Given the description of an element on the screen output the (x, y) to click on. 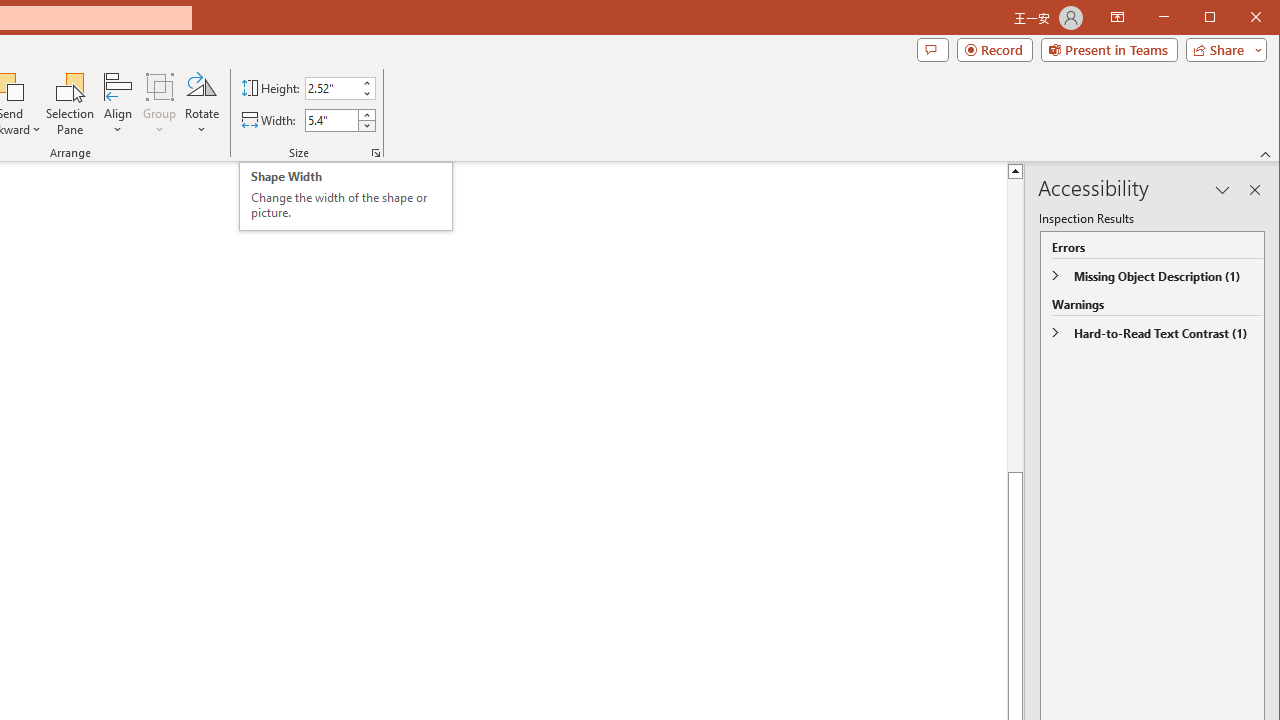
Size and Position... (376, 152)
Align (346, 196)
Shape Height (118, 104)
